Given the description of an element on the screen output the (x, y) to click on. 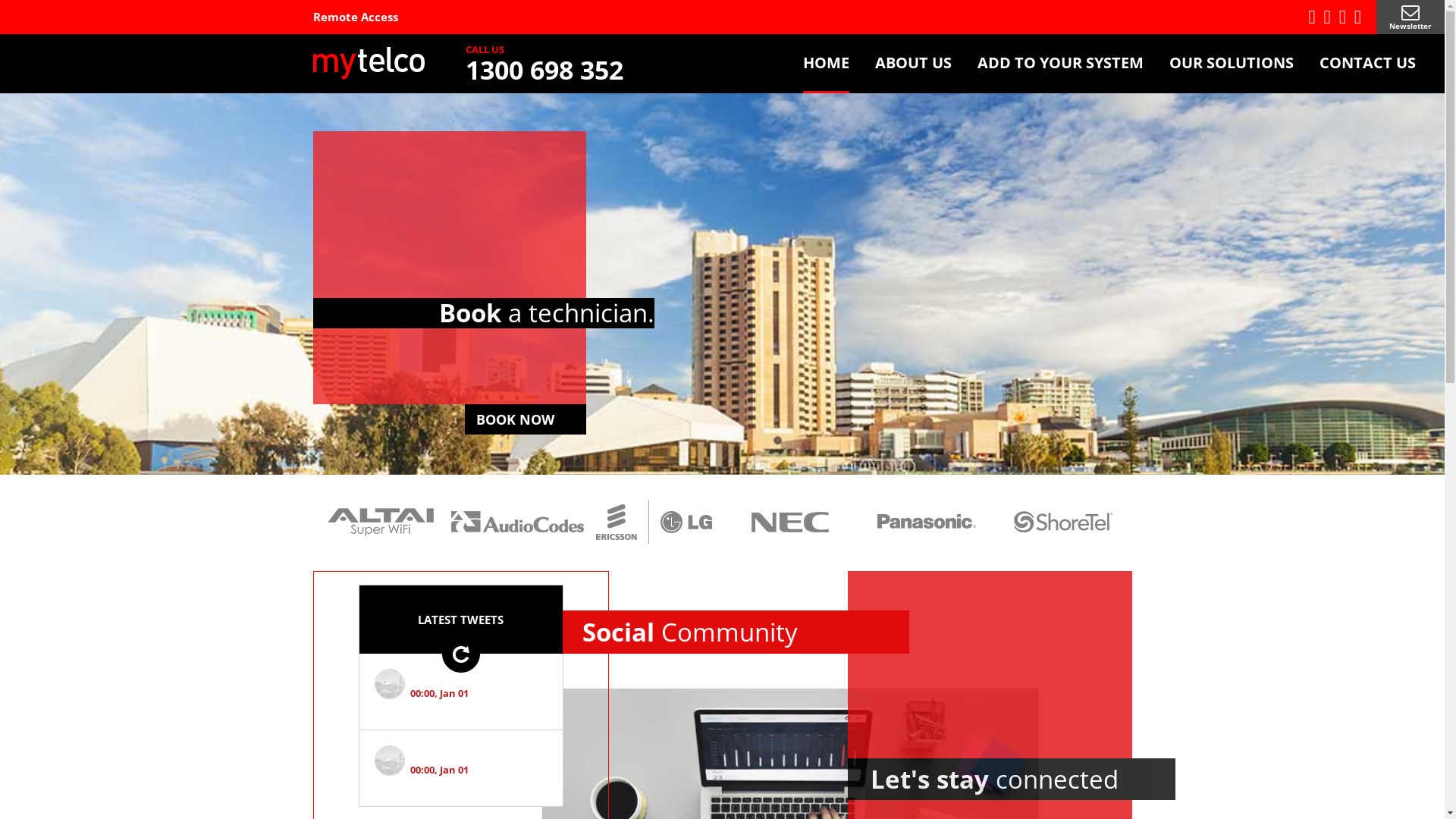
1300 698 352 Element type: text (544, 69)
HOME Element type: text (826, 63)
Newsletter Element type: text (1410, 16)
Remote Access Element type: text (354, 16)
ADD TO YOUR SYSTEM Element type: text (1060, 63)
OUR SOLUTIONS Element type: text (1231, 63)
CONTACT US Element type: text (1367, 63)
ABOUT US Element type: text (913, 63)
BOOK NOW Element type: text (524, 419)
